Given the description of an element on the screen output the (x, y) to click on. 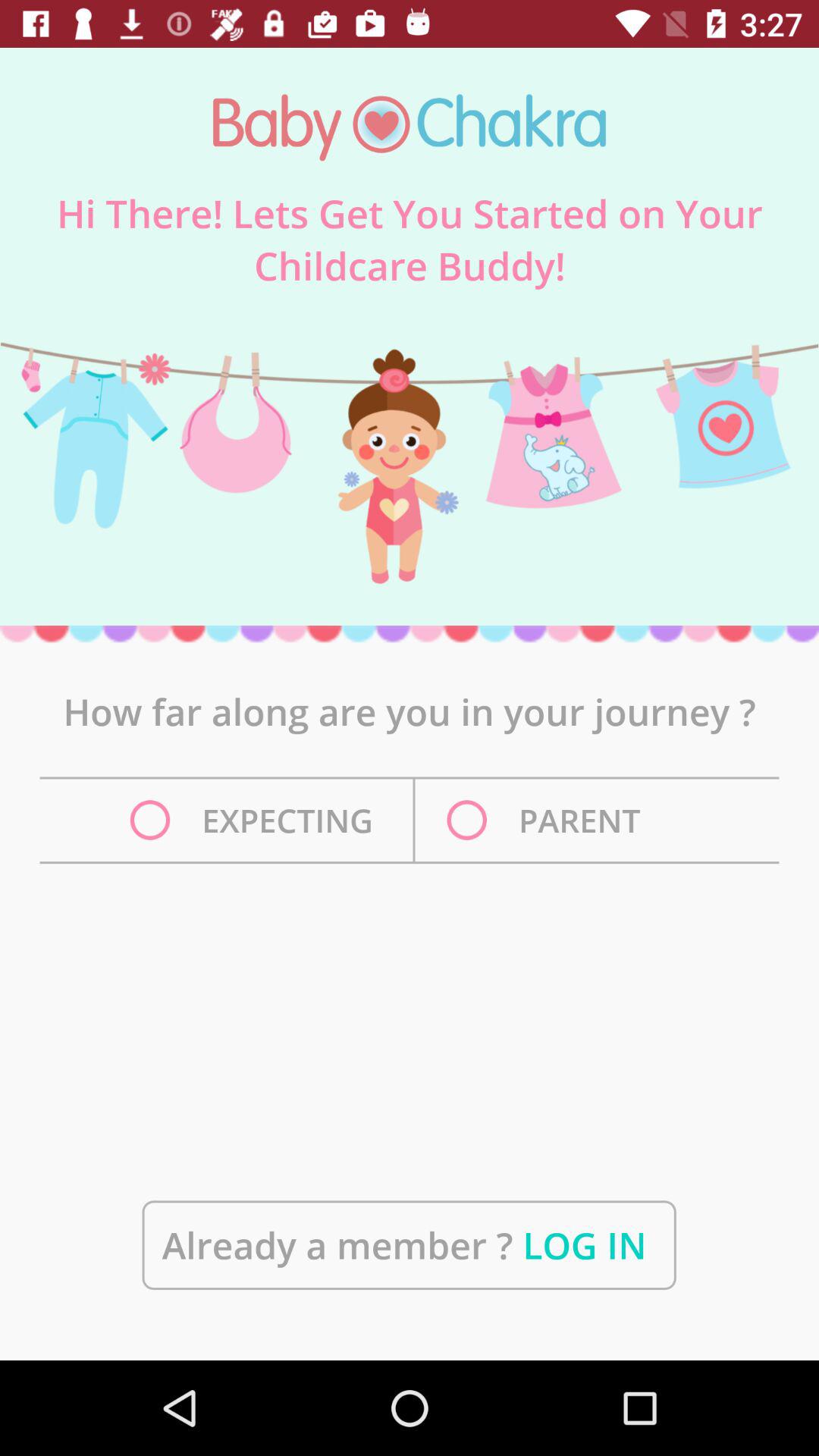
click parent item (547, 820)
